Given the description of an element on the screen output the (x, y) to click on. 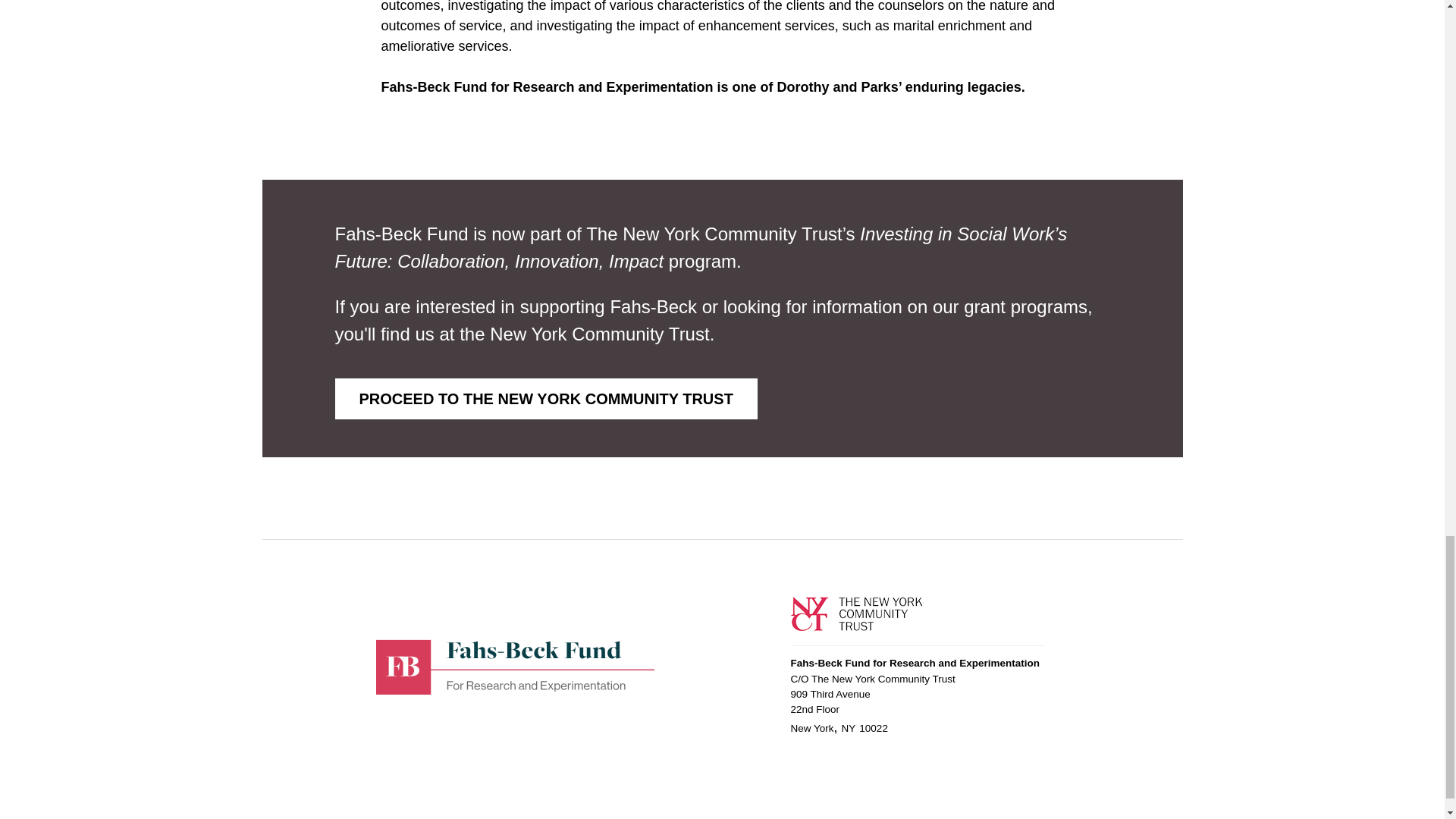
PROCEED TO THE NEW YORK COMMUNITY TRUST (545, 398)
